Given the description of an element on the screen output the (x, y) to click on. 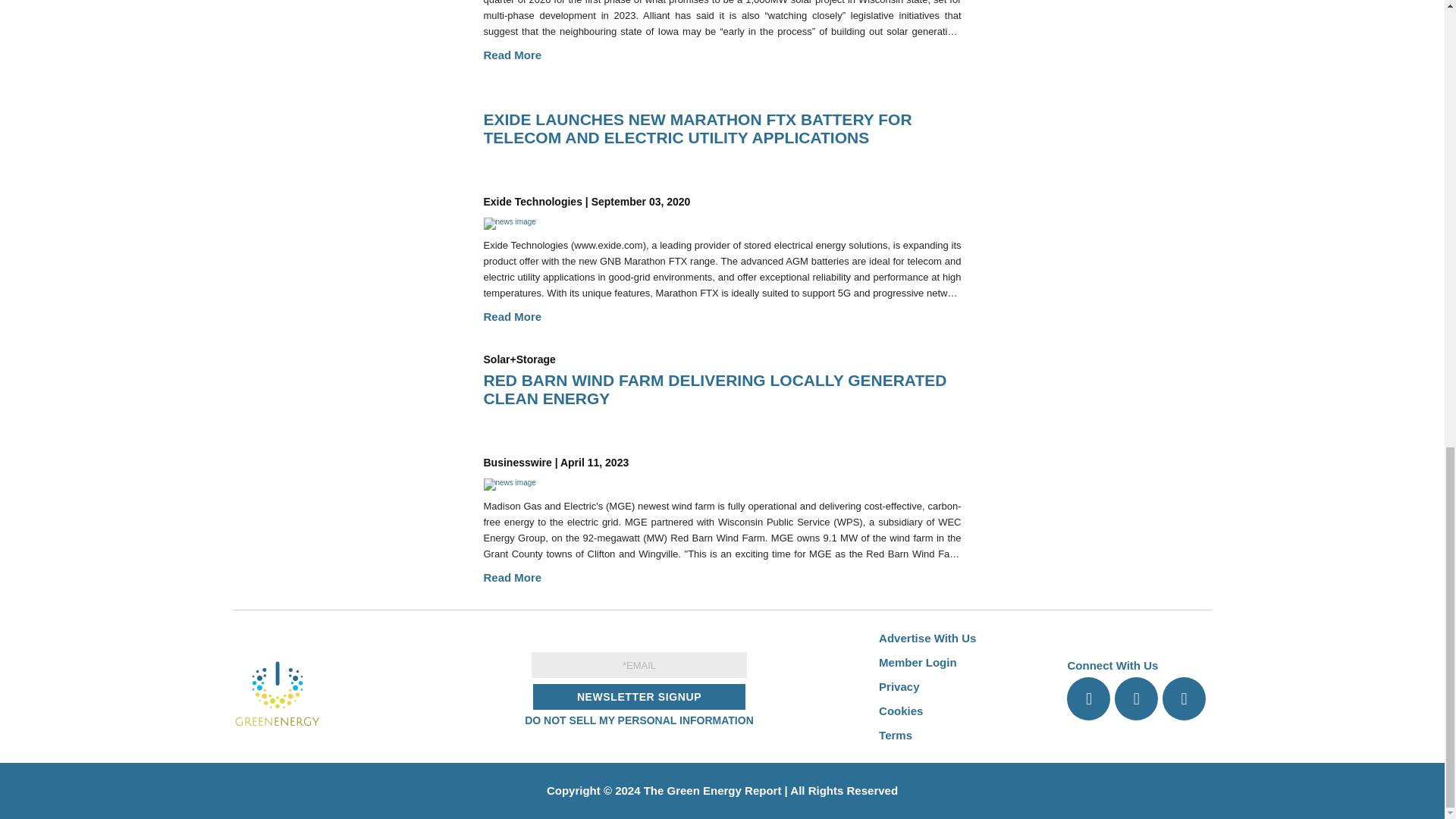
RED BARN WIND FARM DELIVERING LOCALLY GENERATED CLEAN ENERGY (721, 409)
Read More (512, 54)
Read More (512, 576)
Newsletter Signup (638, 696)
Read More (512, 316)
